Given the description of an element on the screen output the (x, y) to click on. 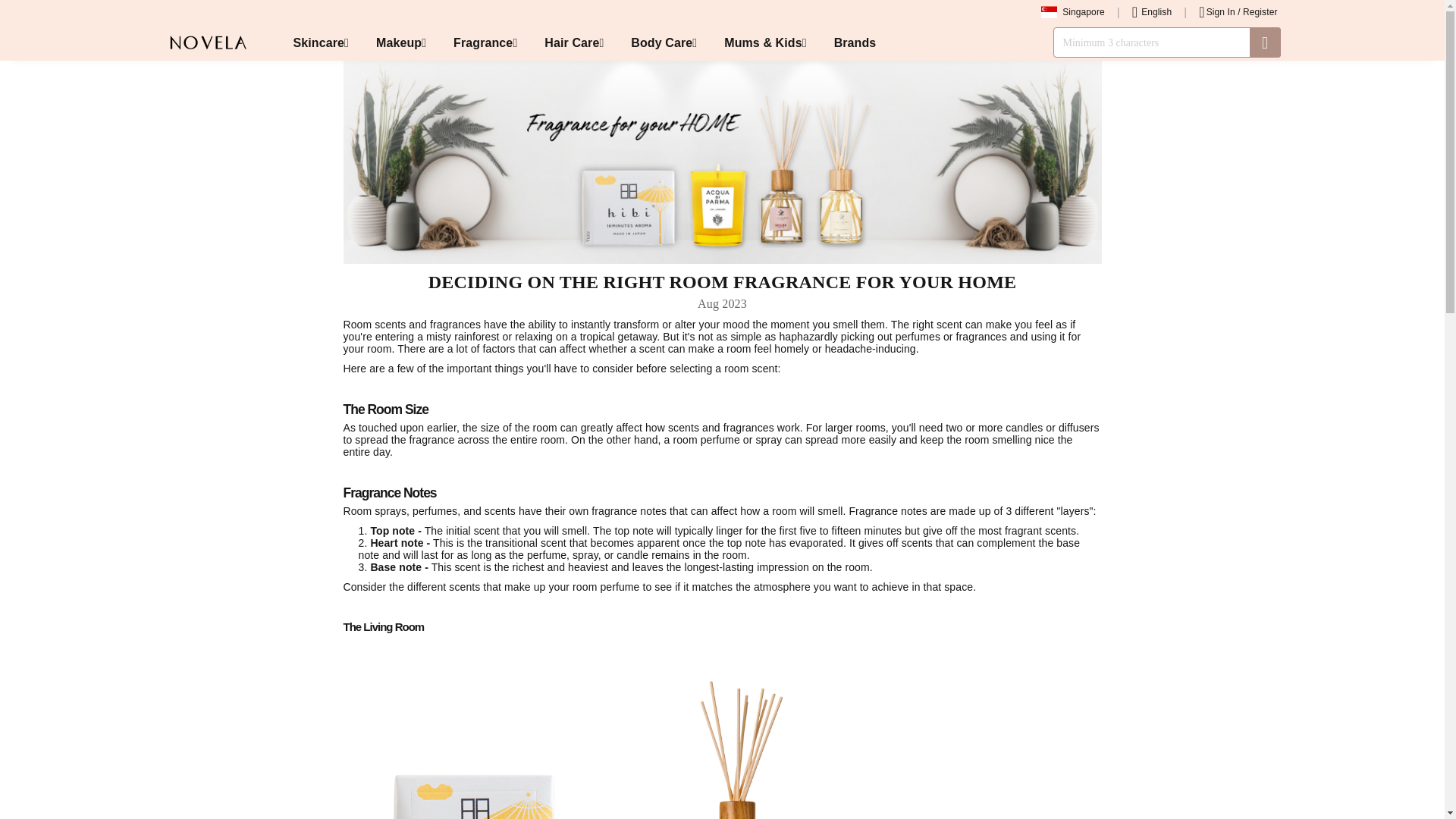
Makeup (401, 42)
Sign In (1220, 11)
Fragrance (484, 42)
Skincare (320, 42)
Register (1259, 11)
